Given the description of an element on the screen output the (x, y) to click on. 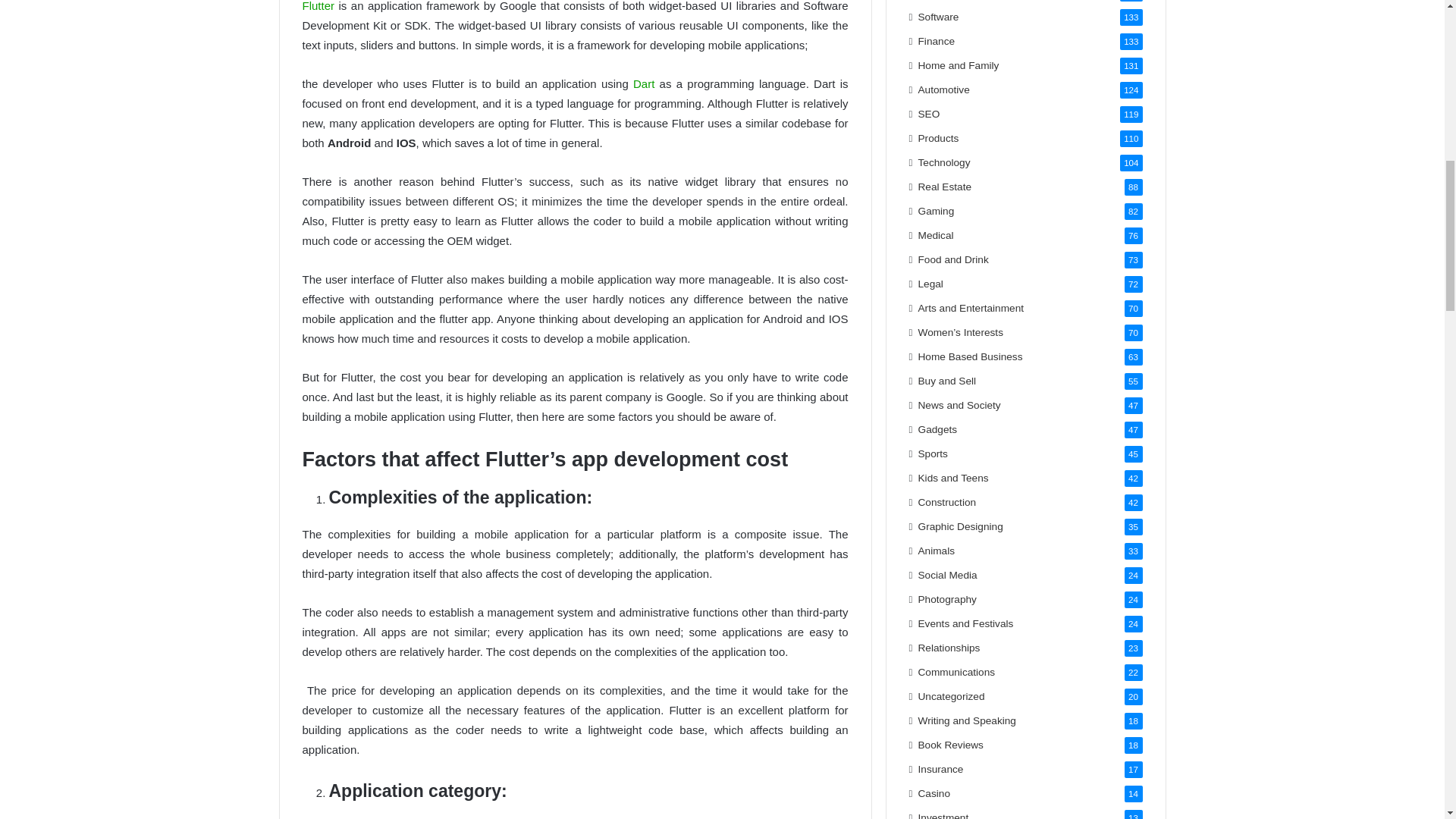
Flutter (317, 6)
Dart (643, 83)
